Given the description of an element on the screen output the (x, y) to click on. 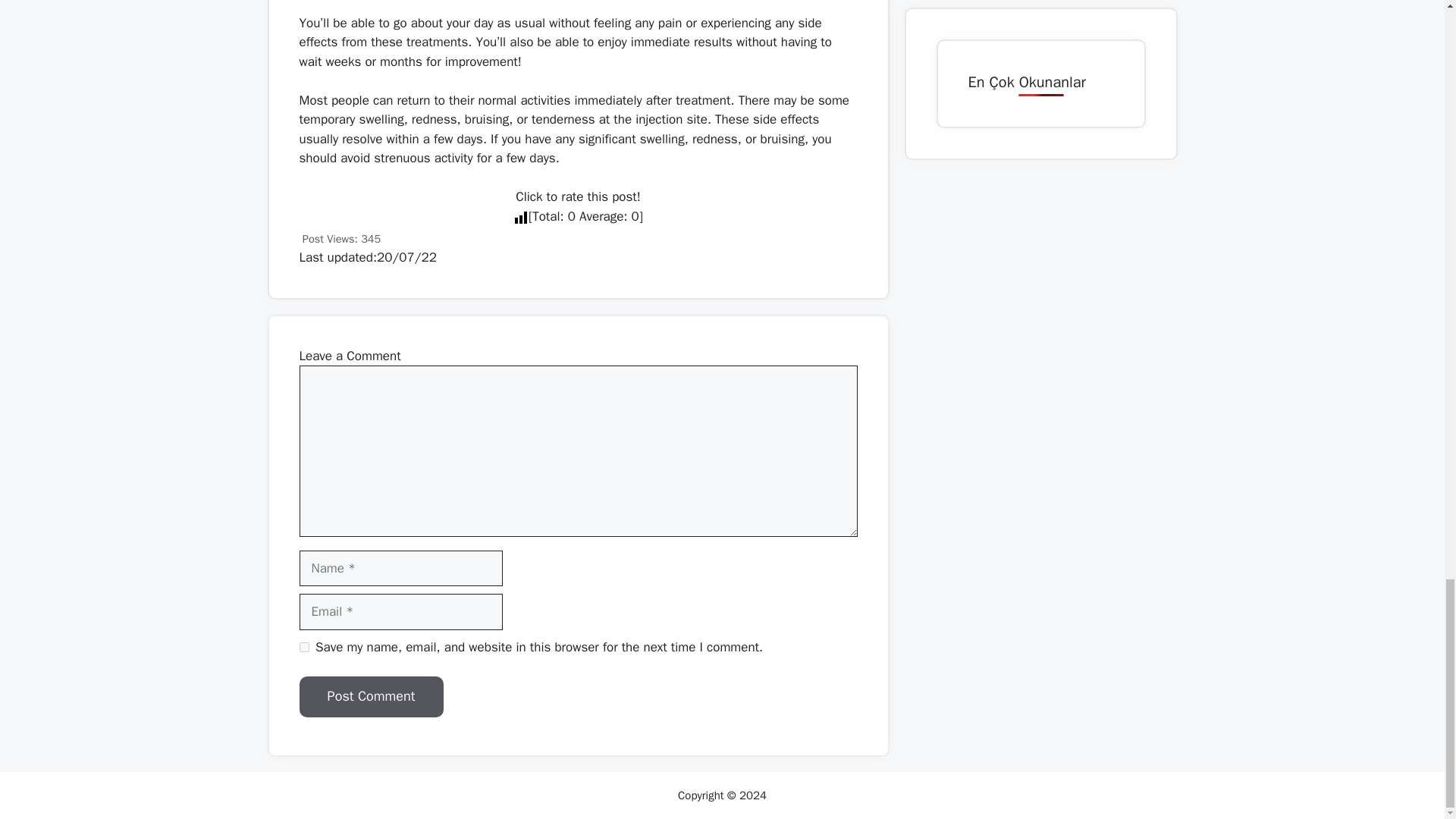
Post Comment (370, 696)
Post Comment (370, 696)
yes (303, 646)
